Given the description of an element on the screen output the (x, y) to click on. 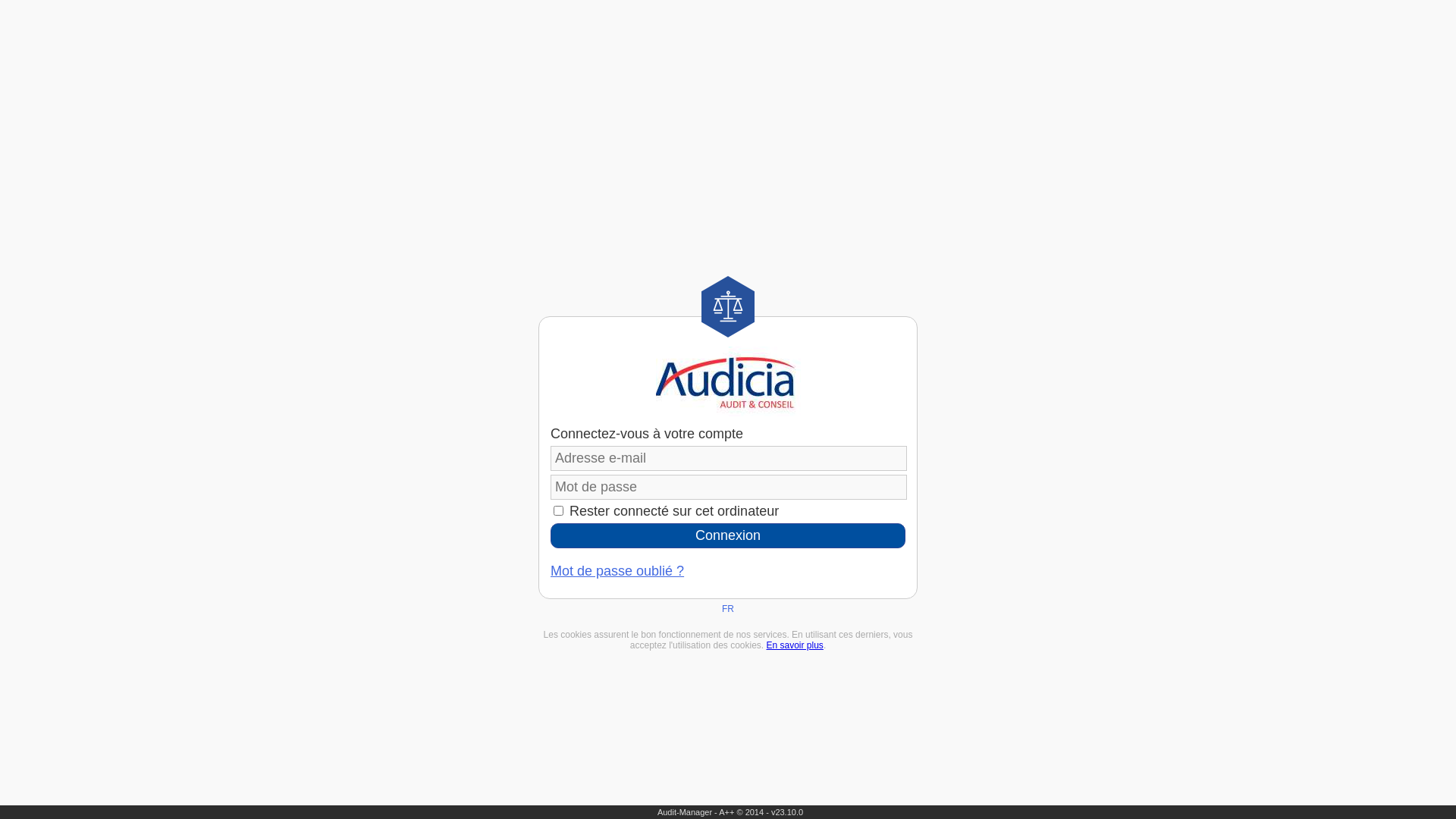
En savoir plus Element type: text (793, 645)
Connexion Element type: text (727, 535)
Audit-Manager Element type: text (684, 811)
FR Element type: text (727, 608)
